Given the description of an element on the screen output the (x, y) to click on. 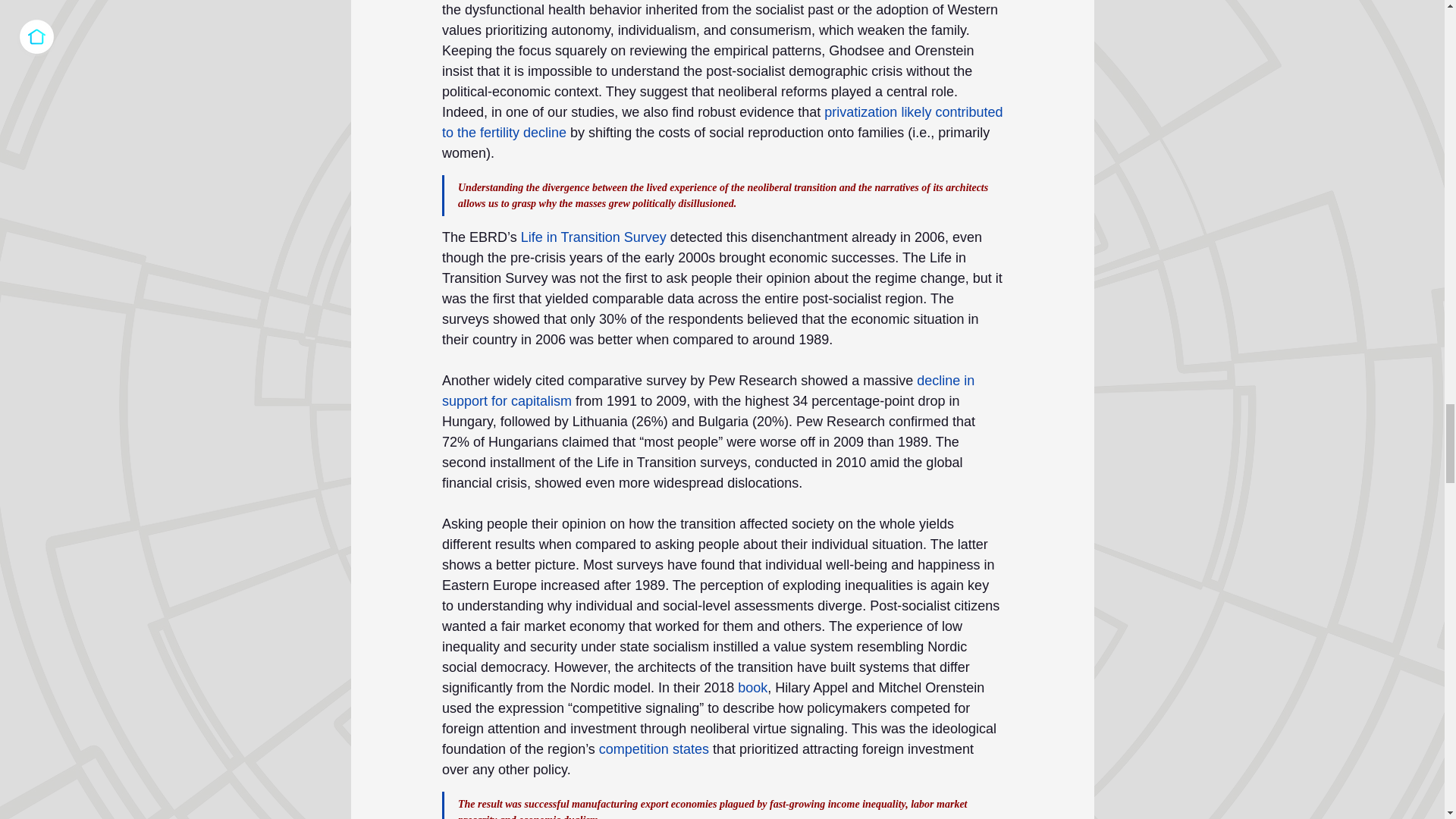
competition states (652, 749)
privatization likely contributed to the fertility decline (723, 122)
book (752, 687)
decline in support for capitalism (708, 390)
Life in Transition Survey (592, 237)
